Given the description of an element on the screen output the (x, y) to click on. 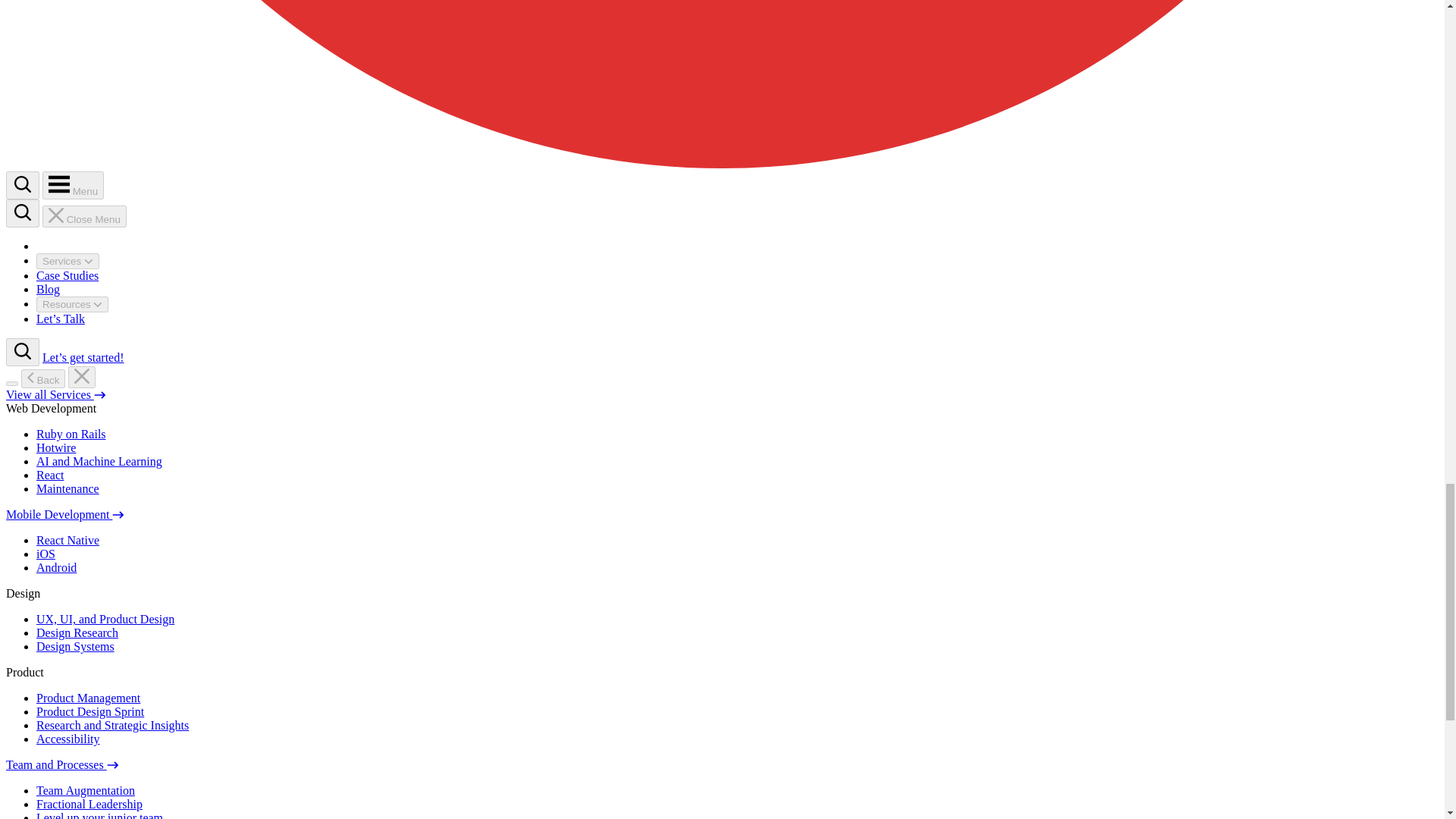
Ruby on Rails (71, 433)
Mobile Development (64, 513)
React (50, 474)
Resources (71, 304)
Level up your junior team (99, 815)
Research and Strategic Insights (112, 725)
Back (43, 378)
Team and Processes (62, 764)
Case Studies (67, 275)
Accessibility (68, 738)
